Given the description of an element on the screen output the (x, y) to click on. 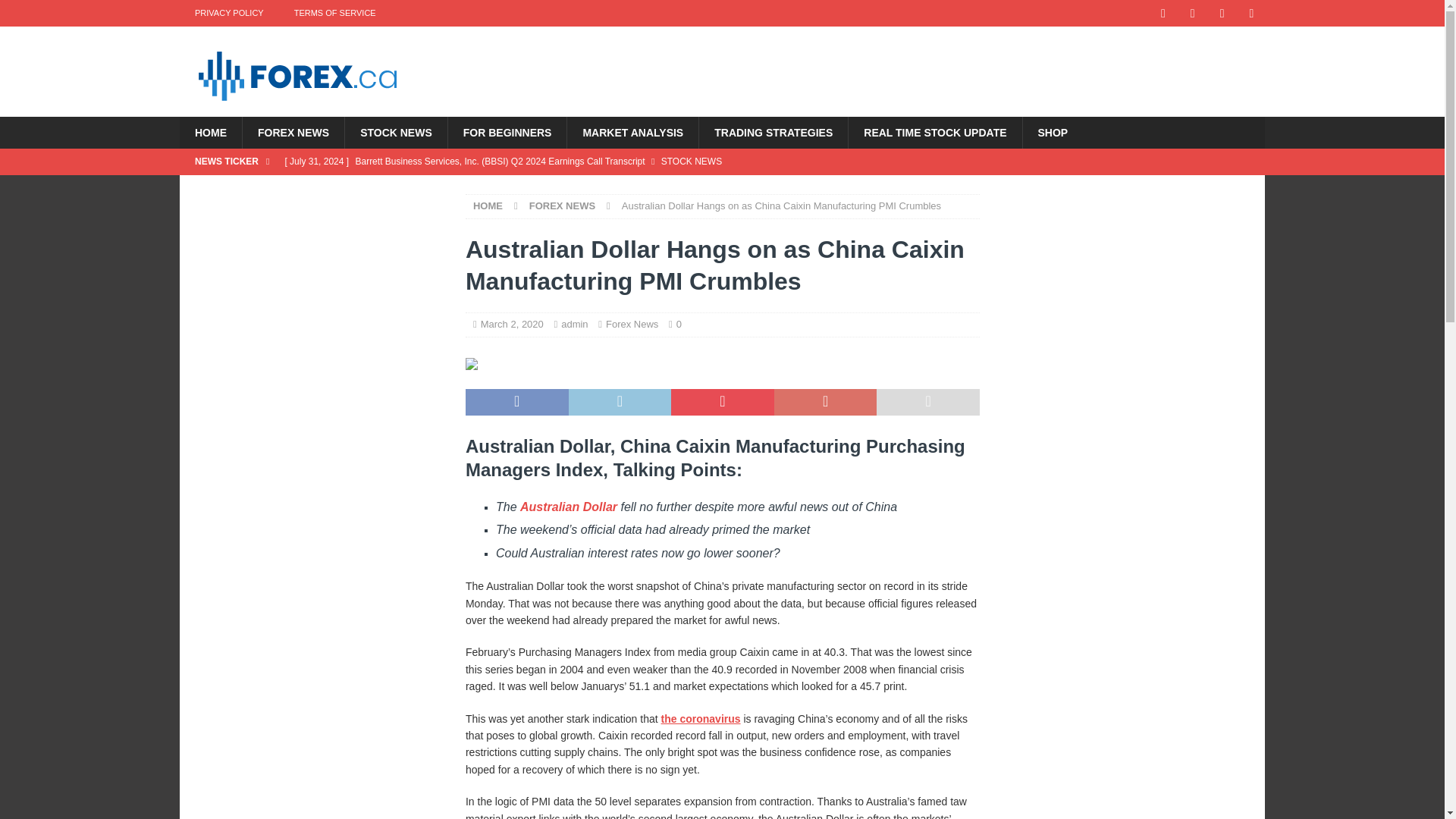
REAL TIME STOCK UPDATE (934, 132)
Australian Dollar (568, 506)
PRIVACY POLICY (229, 13)
admin (574, 324)
TRADING STRATEGIES (772, 132)
MARKET ANALYSIS (632, 132)
HOME (487, 205)
FOR BEGINNERS (506, 132)
STOCK NEWS (394, 132)
HOME (210, 132)
FOREX NEWS (292, 132)
the coronavirus (701, 718)
SHOP (1052, 132)
Forex News (631, 324)
March 2, 2020 (511, 324)
